Given the description of an element on the screen output the (x, y) to click on. 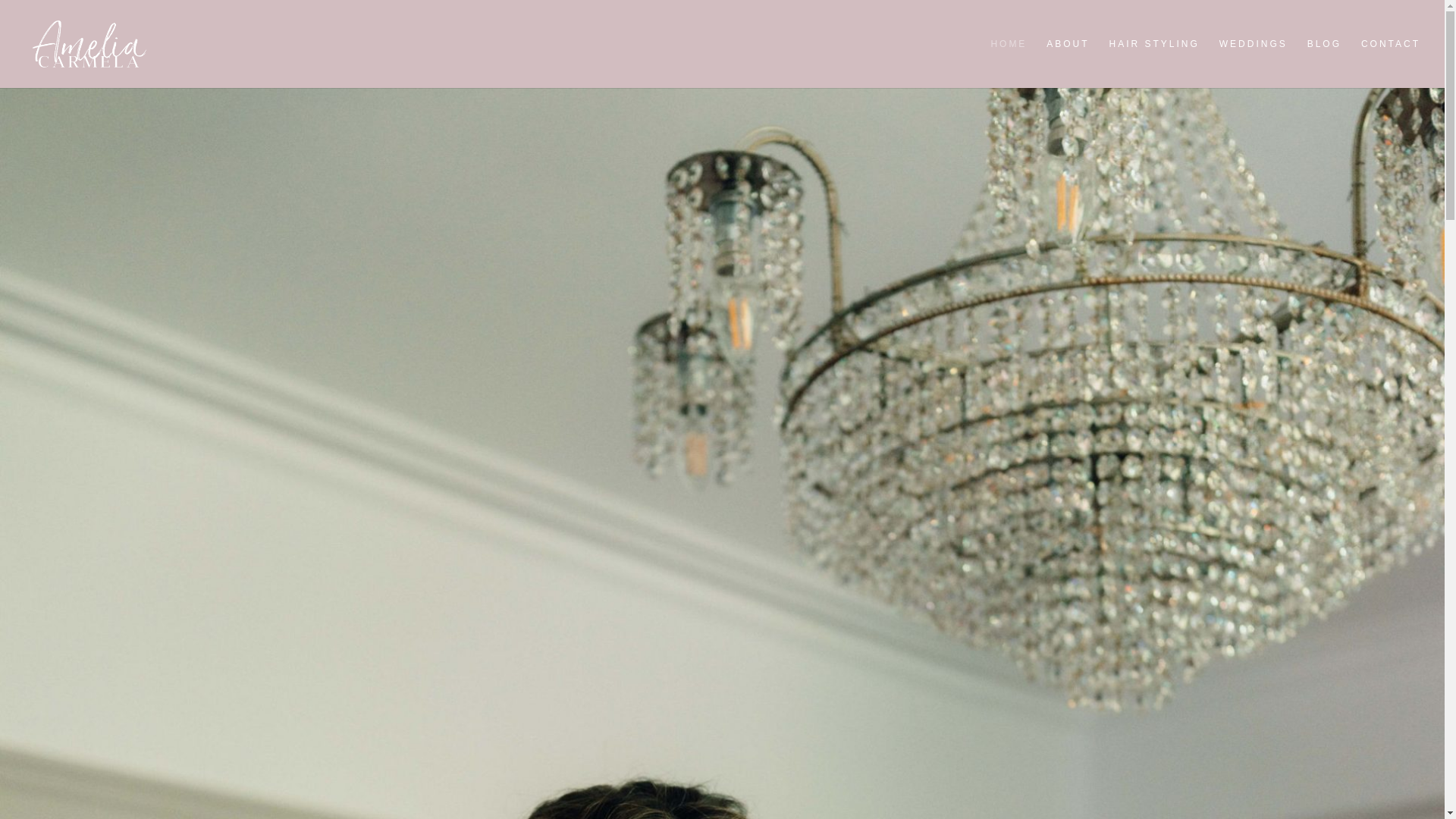
WEDDINGS (1253, 62)
HAIR STYLING (1153, 62)
CONTACT (1391, 62)
